Given the description of an element on the screen output the (x, y) to click on. 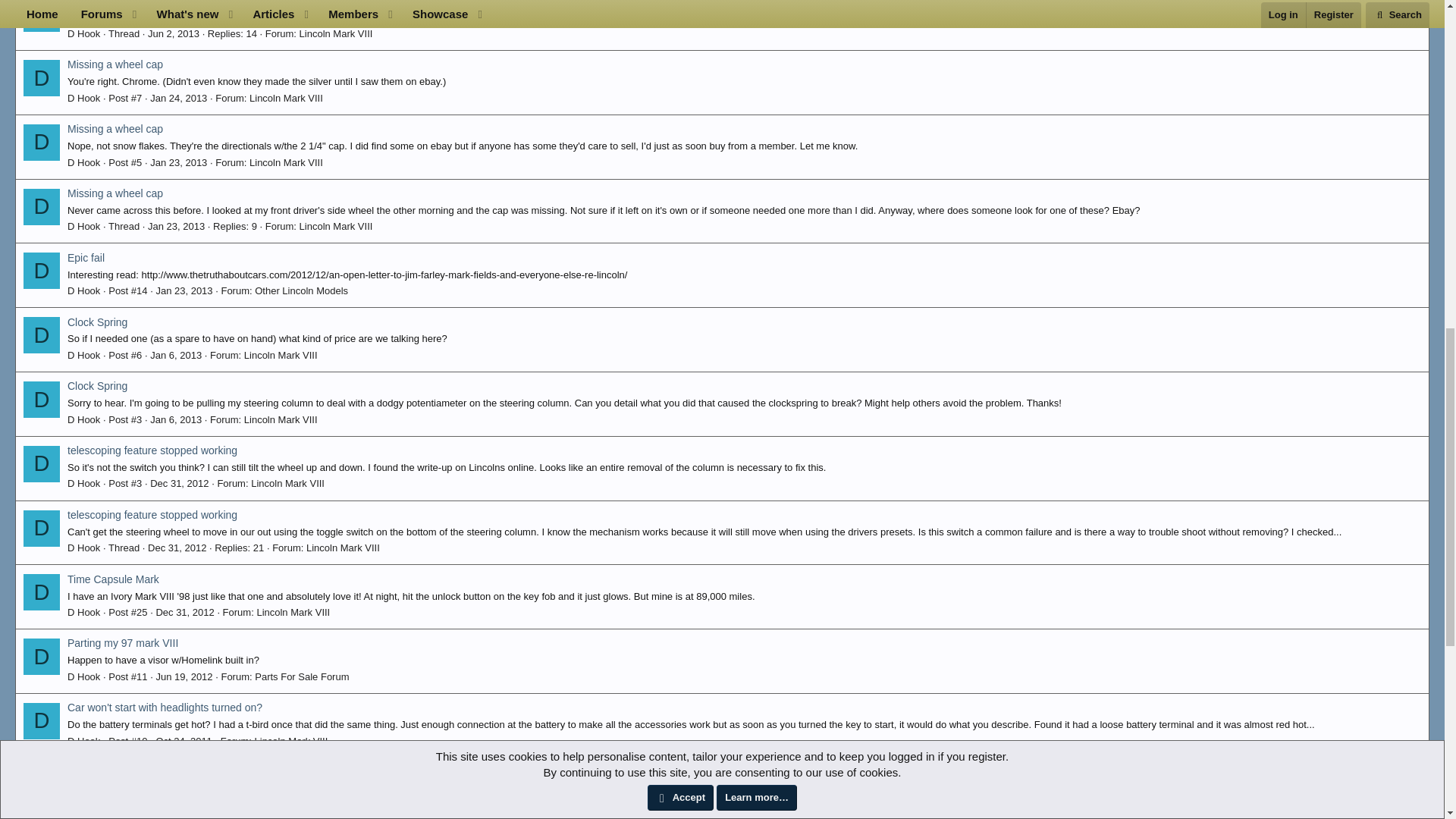
Jan 23, 2013 at 7:16 AM (183, 290)
Jan 6, 2013 at 12:05 PM (175, 355)
Dec 31, 2012 at 10:33 AM (184, 612)
Jan 23, 2013 at 10:40 AM (177, 162)
Dec 31, 2012 at 10:50 AM (177, 547)
Jan 6, 2013 at 9:10 AM (175, 419)
Jan 23, 2013 at 7:24 AM (176, 225)
Dec 31, 2012 at 1:56 PM (178, 482)
Jun 2, 2013 at 11:06 AM (173, 33)
Jan 24, 2013 at 6:29 AM (177, 98)
